Given the description of an element on the screen output the (x, y) to click on. 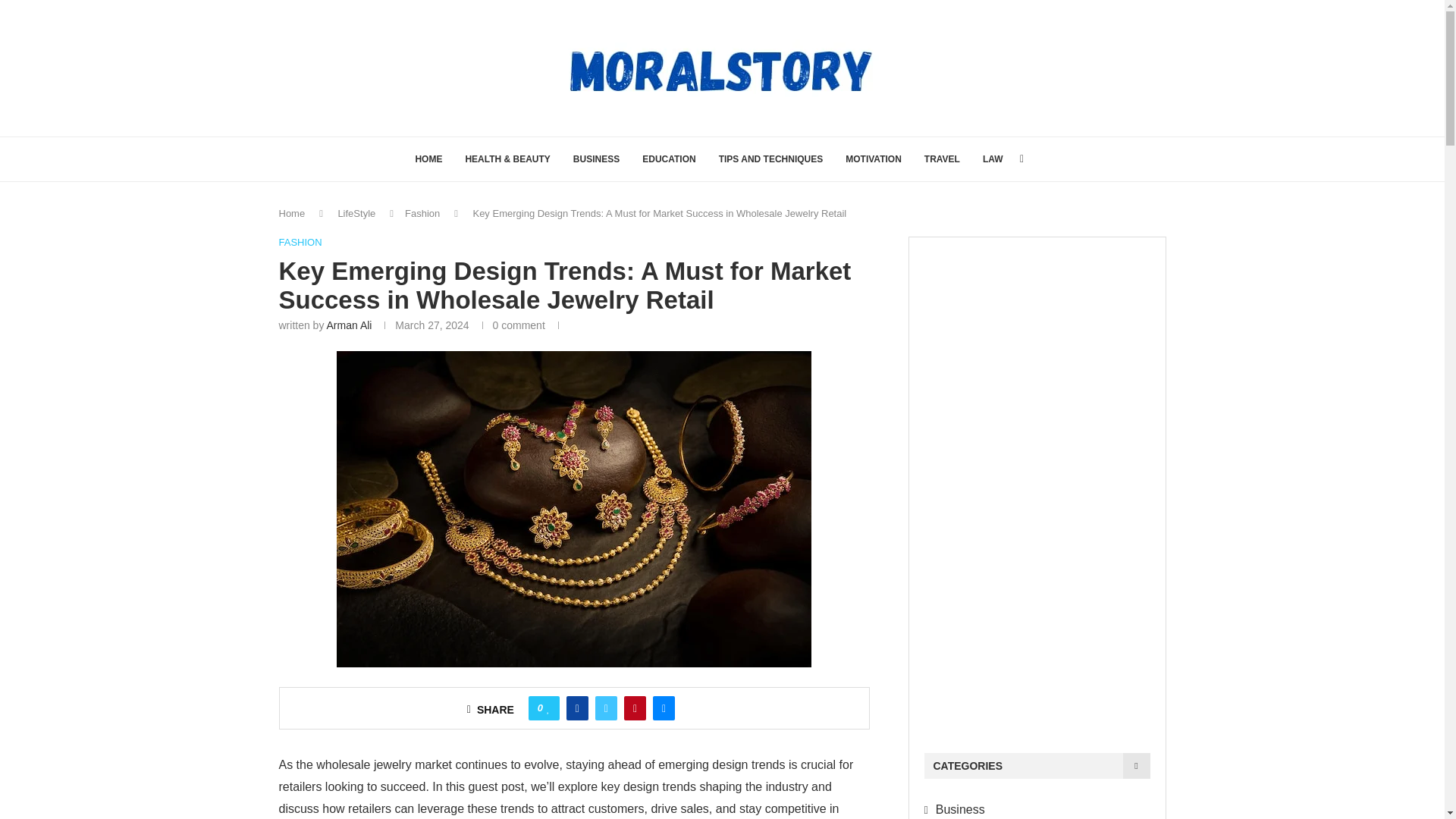
FASHION (300, 242)
Arman Ali (349, 325)
Home (292, 213)
BUSINESS (596, 158)
LifeStyle (356, 213)
EDUCATION (668, 158)
MOTIVATION (873, 158)
Fashion (421, 213)
TIPS AND TECHNIQUES (771, 158)
